Given the description of an element on the screen output the (x, y) to click on. 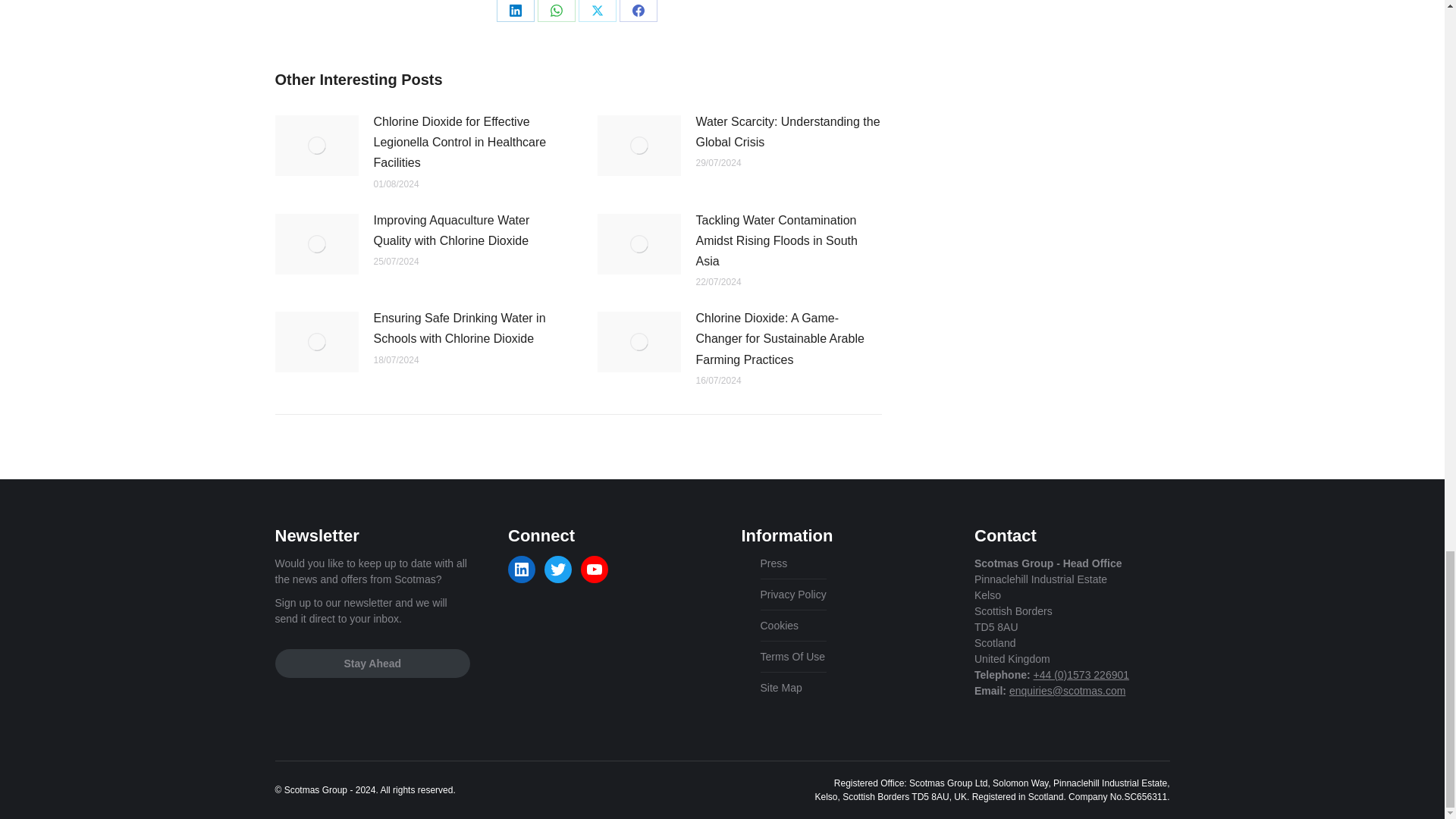
LinkedIn (515, 11)
WhatsApp (556, 11)
Facebook (637, 11)
X (596, 11)
